Given the description of an element on the screen output the (x, y) to click on. 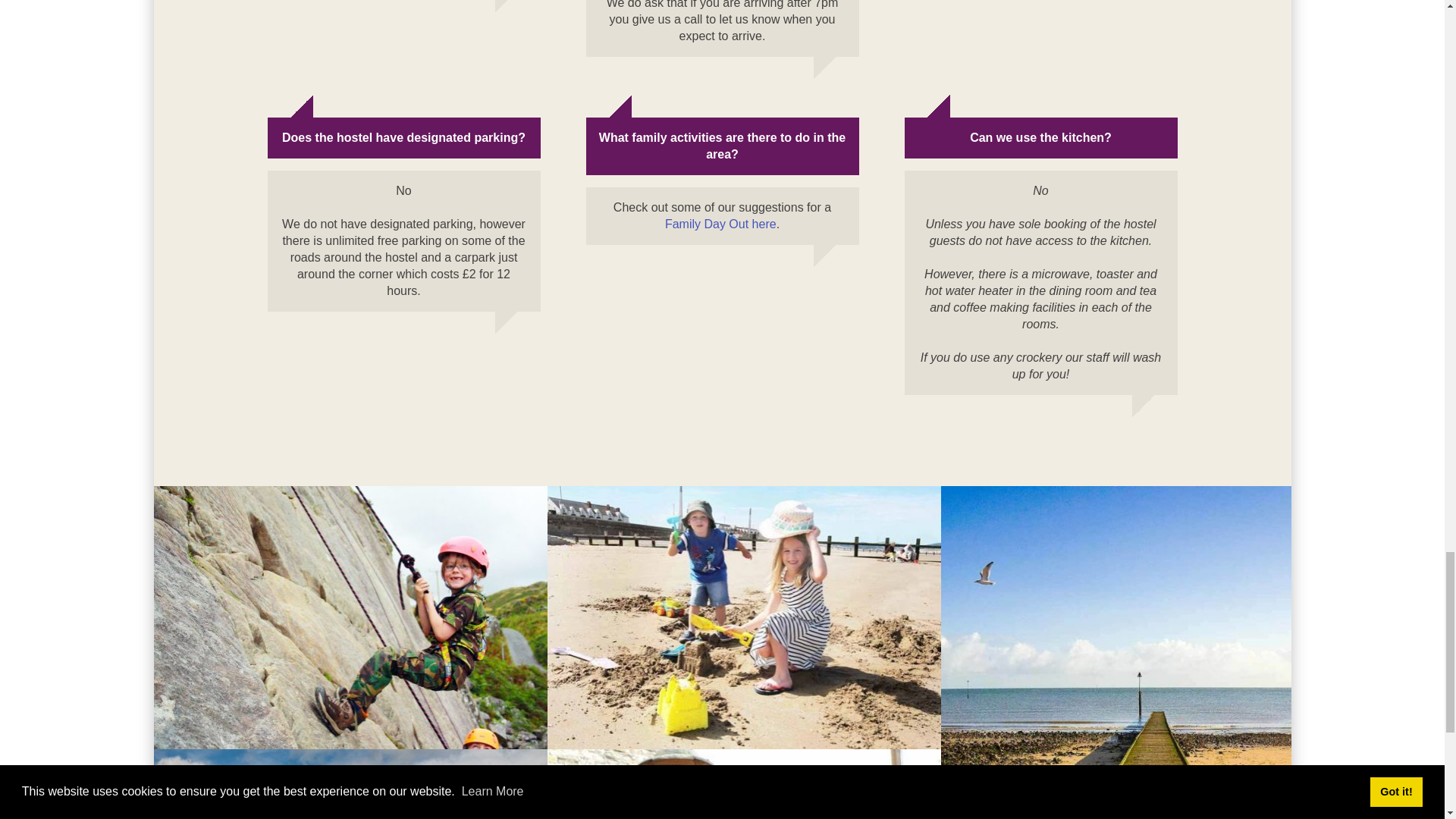
Family Day Out here (720, 223)
